Given the description of an element on the screen output the (x, y) to click on. 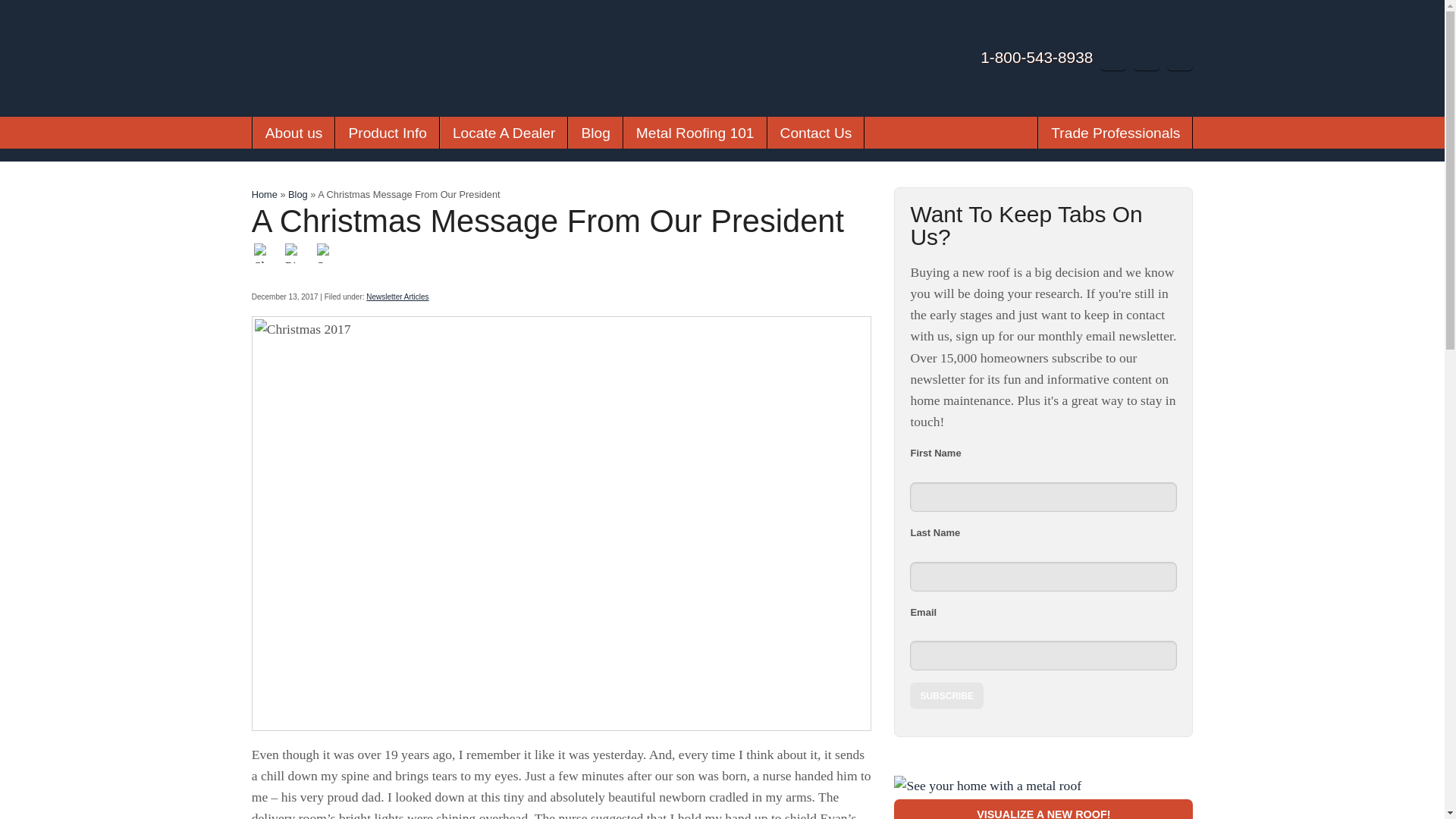
Follow us on Twitter (1146, 57)
Twitter (1146, 57)
Send email (326, 251)
Blog (595, 132)
Locate A Dealer (504, 132)
Classic Metal Roofing Systems (317, 93)
Subscribe to our YouTube Channel (1112, 57)
Like us on Facebook (1179, 57)
Product Info (387, 132)
Pin it (294, 251)
YouTube (1112, 57)
1-800-543-8938 (1036, 57)
About us (293, 132)
Click to see your home with a metal roof! (1042, 785)
Facebook (1179, 57)
